Given the description of an element on the screen output the (x, y) to click on. 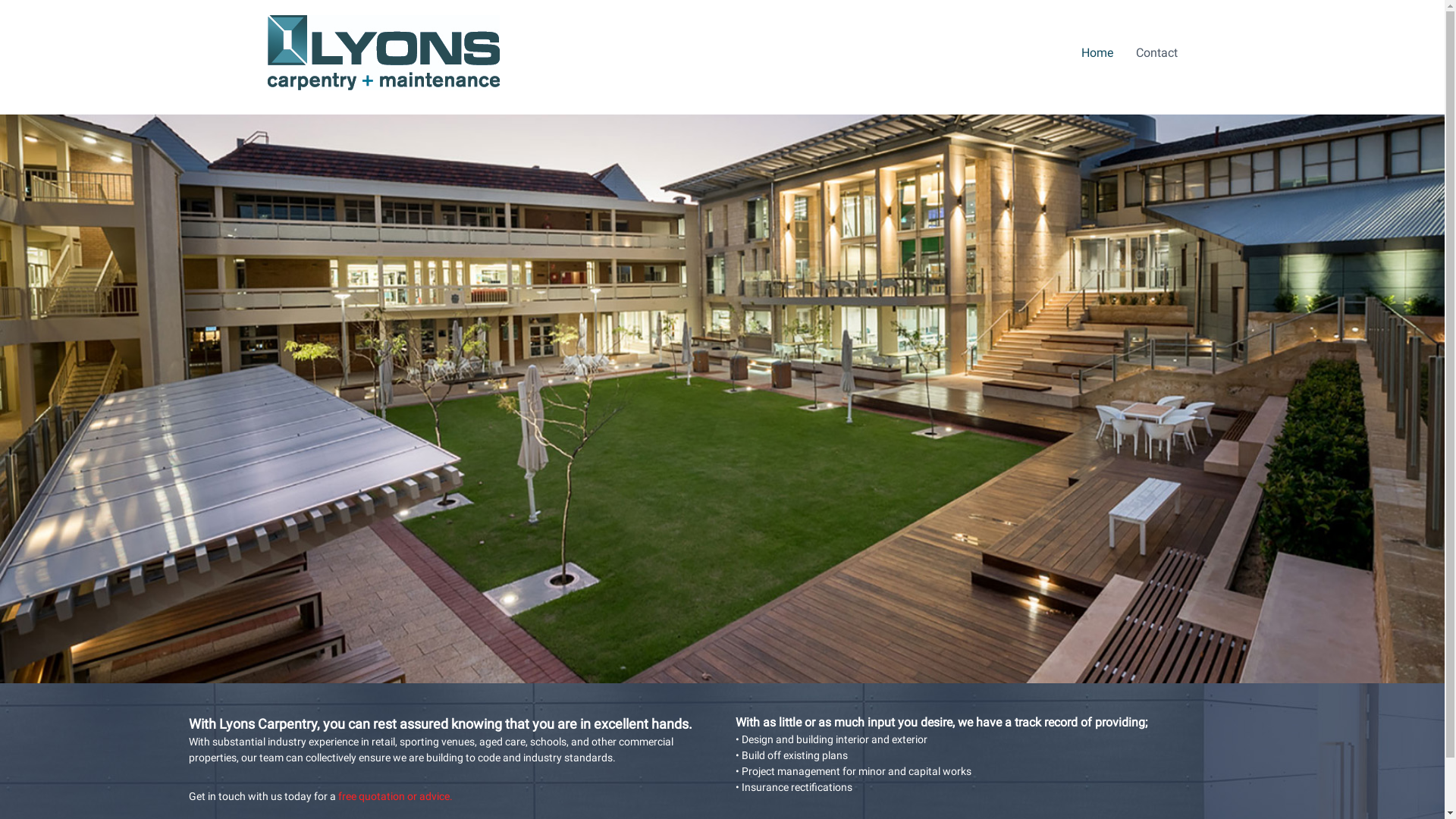
Contact Element type: text (1156, 52)
free quotation or advice.  Element type: text (396, 796)
Home Element type: text (1097, 52)
